Given the description of an element on the screen output the (x, y) to click on. 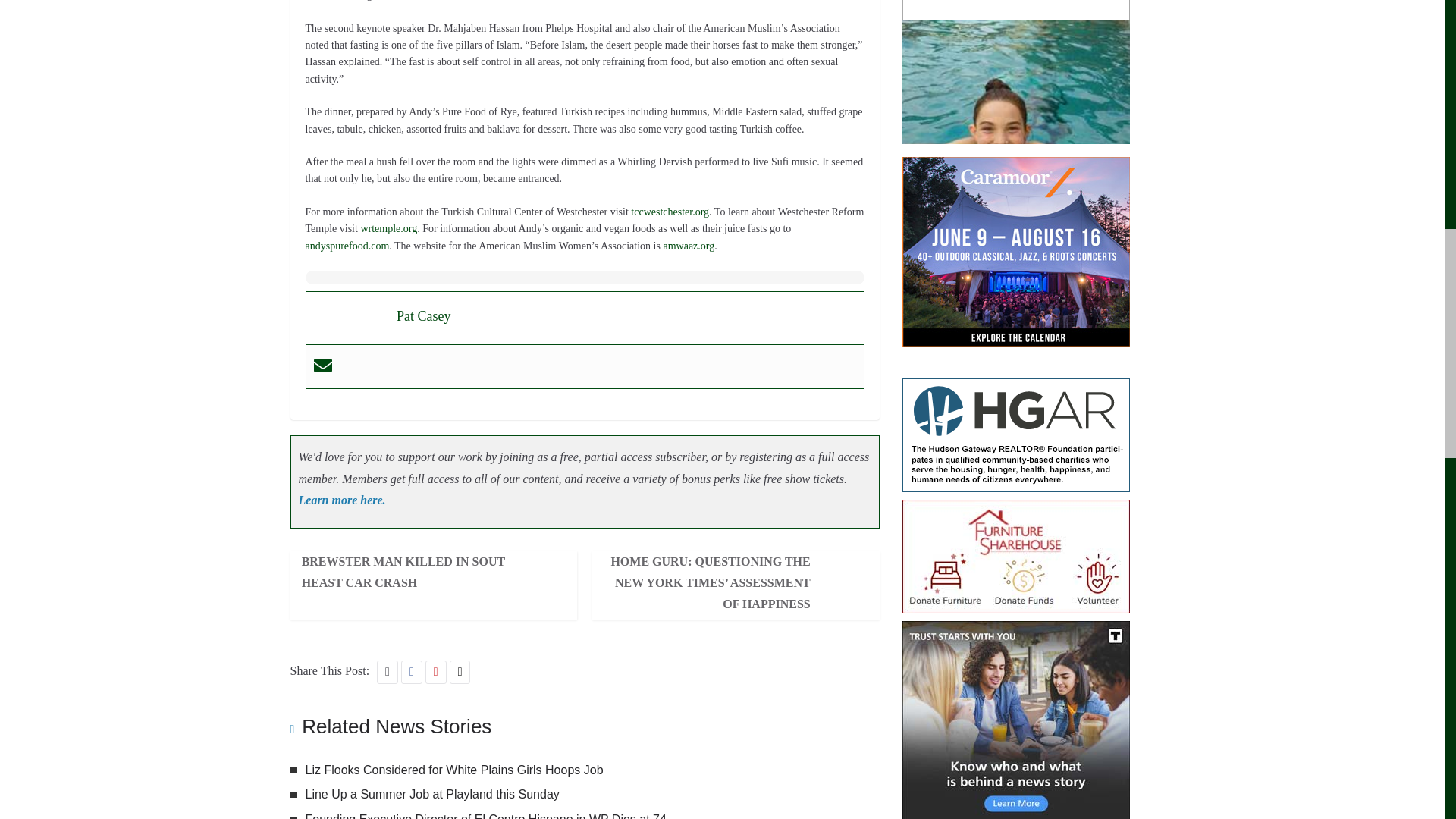
Liz Flooks Considered for White Plains Girls Hoops Job (453, 769)
Line Up a Summer Job at Playland this Sunday (431, 793)
